Given the description of an element on the screen output the (x, y) to click on. 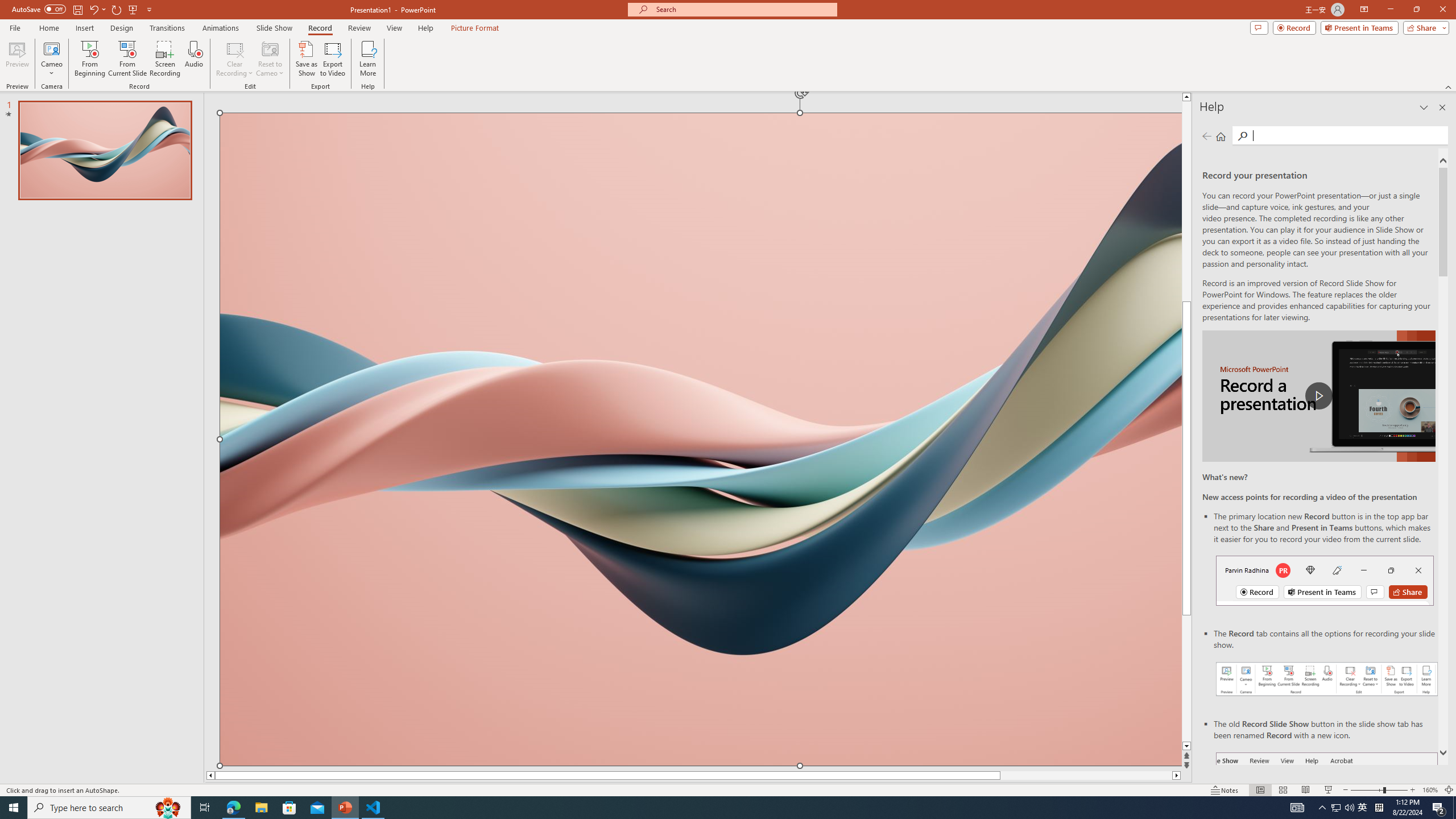
Undo (96, 9)
Page down (1186, 678)
Previous page (1206, 136)
